Given the description of an element on the screen output the (x, y) to click on. 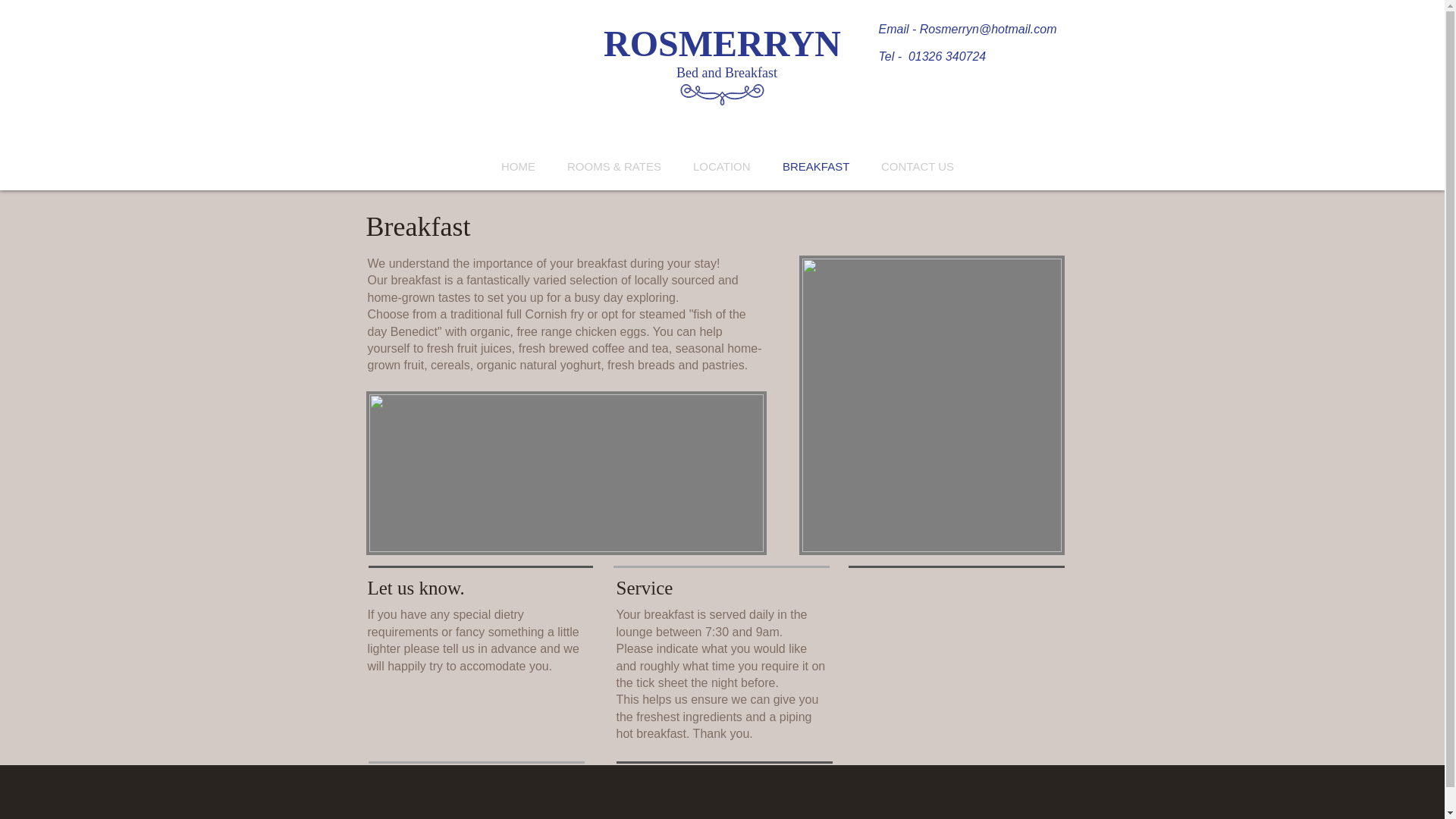
LOCATION (722, 166)
CONTACT US (916, 166)
BREAKFAST (815, 166)
HOME (517, 166)
